Given the description of an element on the screen output the (x, y) to click on. 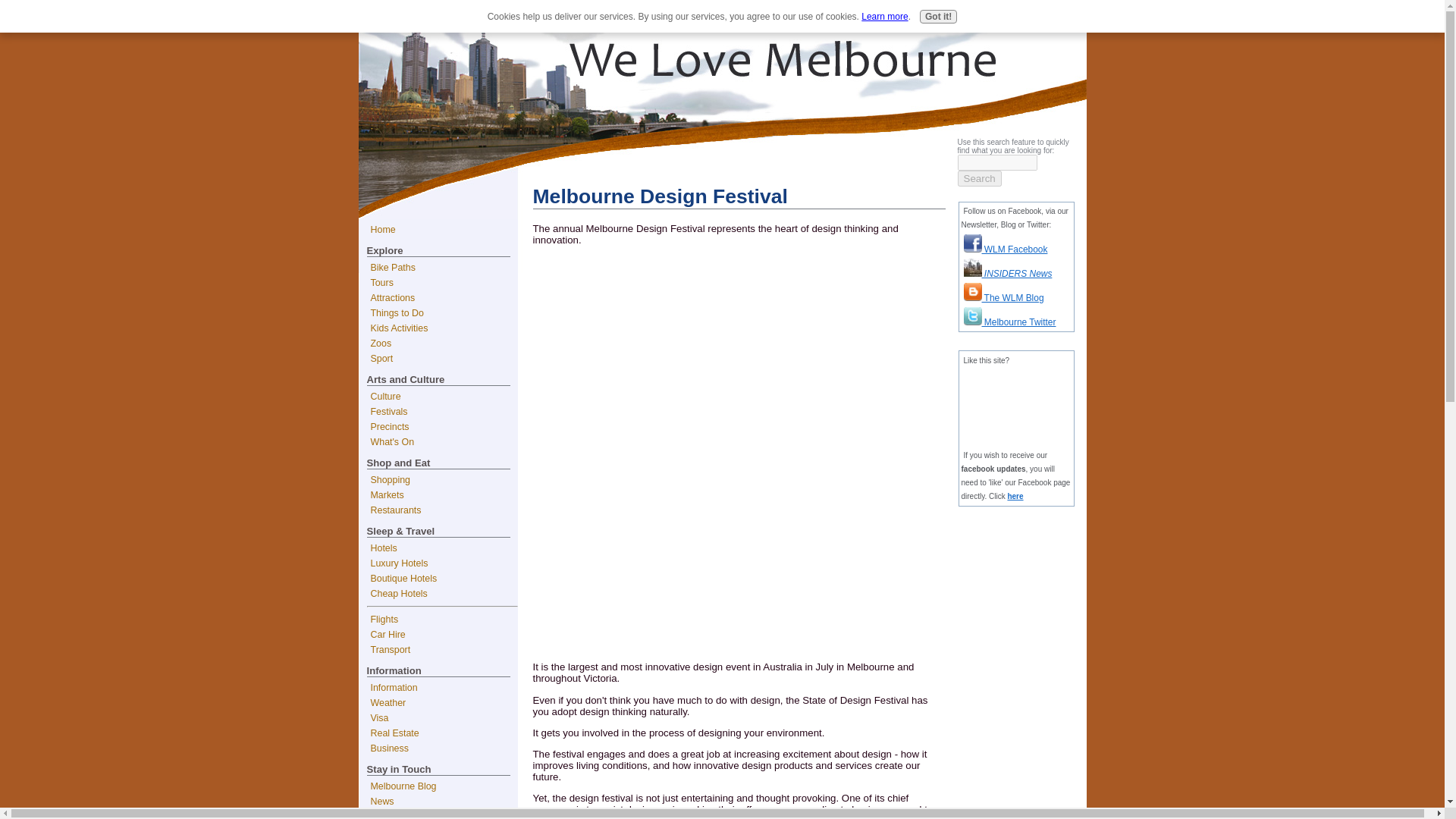
Contact (1062, 13)
Cheap Hotels (442, 593)
Home (909, 13)
Car Hire (442, 634)
Culture (442, 396)
What's On (442, 441)
Kids Activities (442, 328)
Shopping (442, 479)
Hotels (442, 548)
Subscribe (442, 814)
Sport (442, 358)
Search (978, 178)
Flights (442, 619)
Transport (442, 649)
Bike Paths (442, 267)
